Given the description of an element on the screen output the (x, y) to click on. 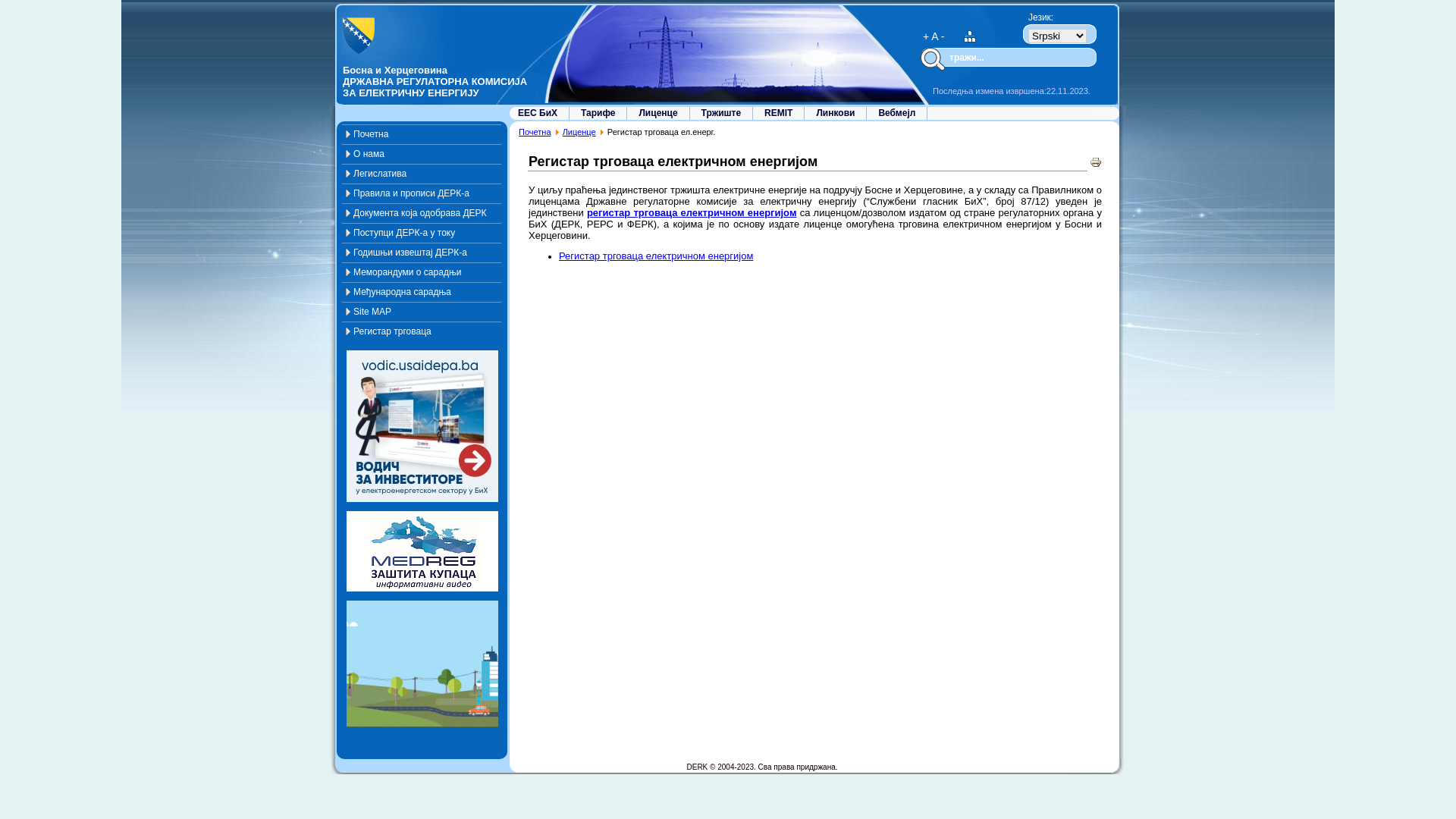
- Element type: text (942, 36)
A Element type: text (934, 36)
vodic Element type: hover (421, 426)
Svi dokumenti na stranici Element type: hover (969, 38)
+ Element type: text (925, 36)
uporedistruju-s Element type: hover (421, 663)
zastita-kupaca Element type: hover (421, 551)
REMIT Element type: text (778, 112)
Site MAP Element type: text (421, 311)
